Given the description of an element on the screen output the (x, y) to click on. 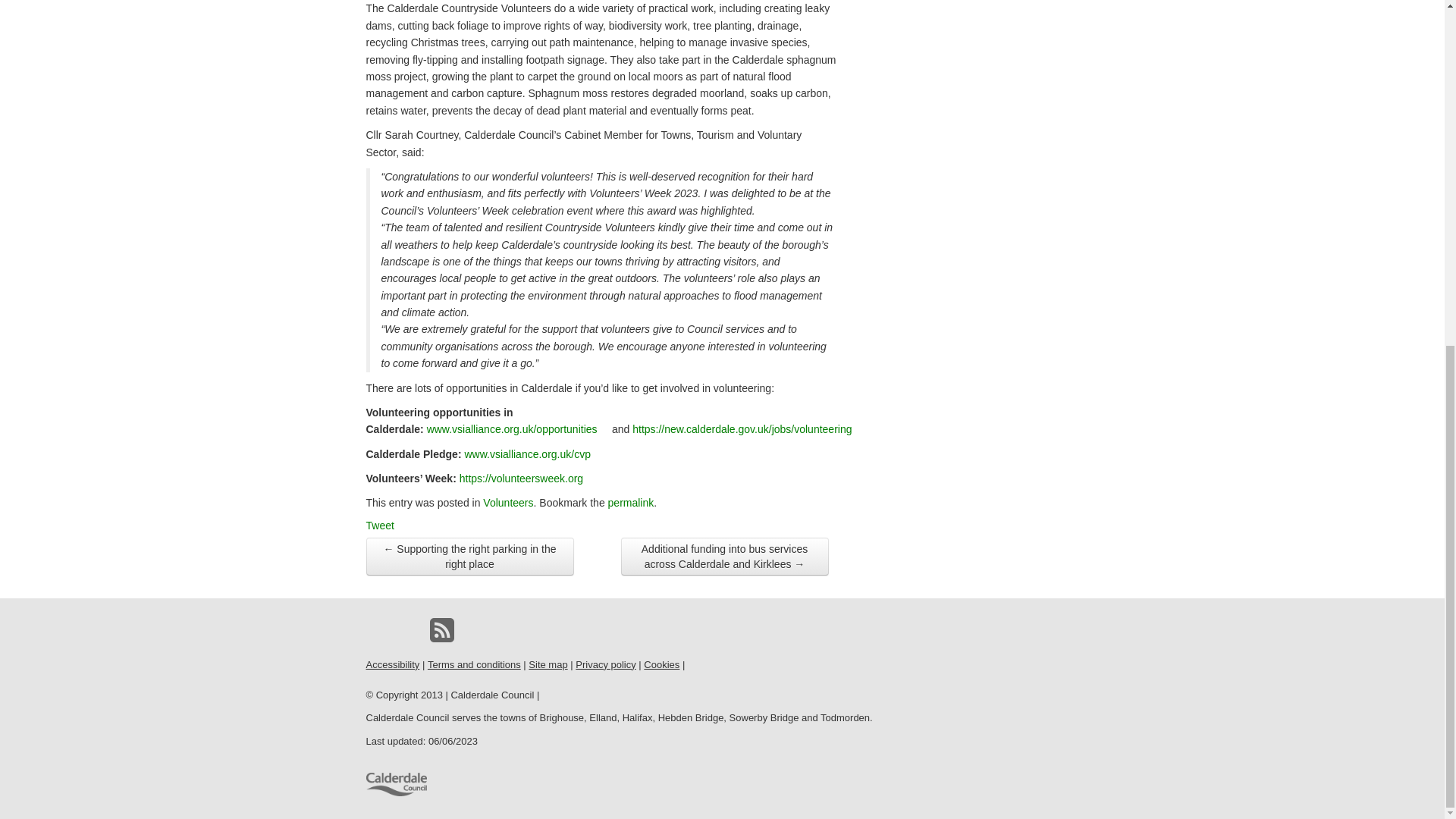
Volunteers (507, 502)
RSS (440, 630)
permalink (630, 502)
Facebook (377, 630)
Twitter (409, 630)
Tweet (379, 525)
